Given the description of an element on the screen output the (x, y) to click on. 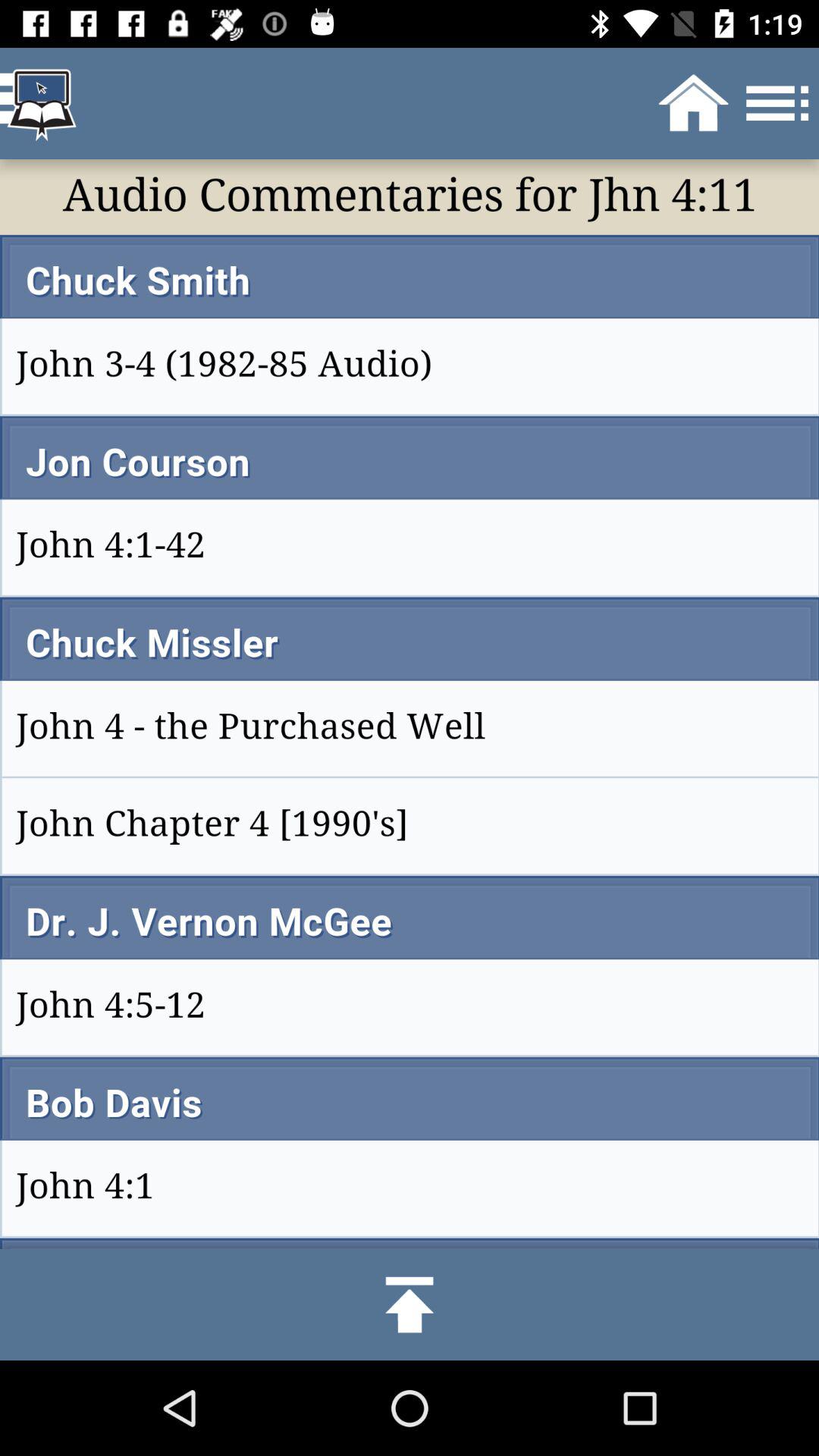
all page (409, 703)
